Given the description of an element on the screen output the (x, y) to click on. 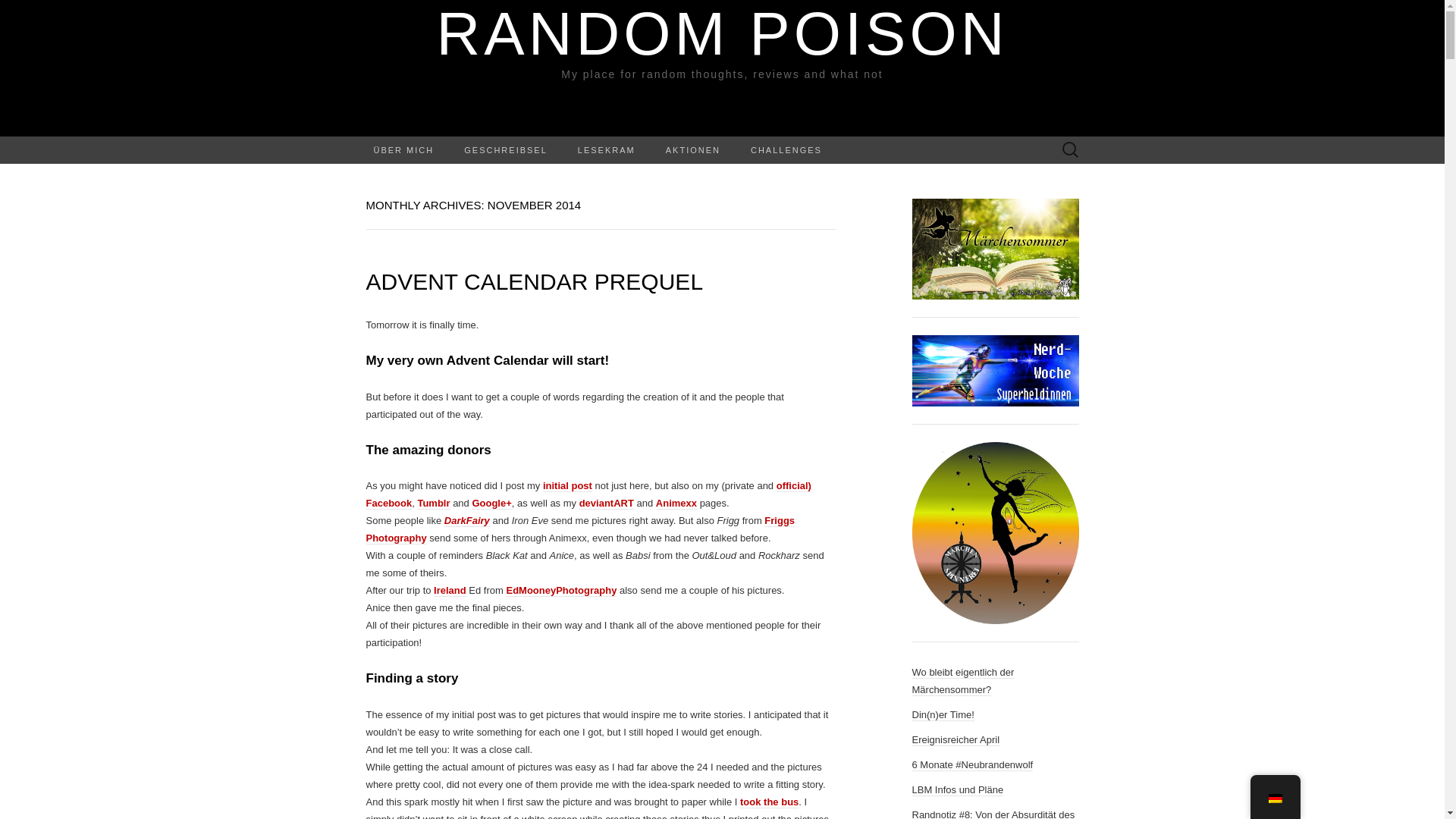
DarkFairy's Blog (466, 521)
CHALLENGES (786, 149)
Me on Facebook (587, 494)
AKTIONEN (692, 149)
My deviantART Page (606, 503)
Random Poison (722, 68)
On the Road: Taking the Bus (768, 802)
Friggs Facebook Page (579, 529)
GESCHREIBSEL (505, 149)
Me on Tumblr (432, 503)
My Animexx Page (676, 503)
LESEKRAM (606, 149)
Ed's Blog (560, 590)
A different kind of Halloween (449, 590)
